Given the description of an element on the screen output the (x, y) to click on. 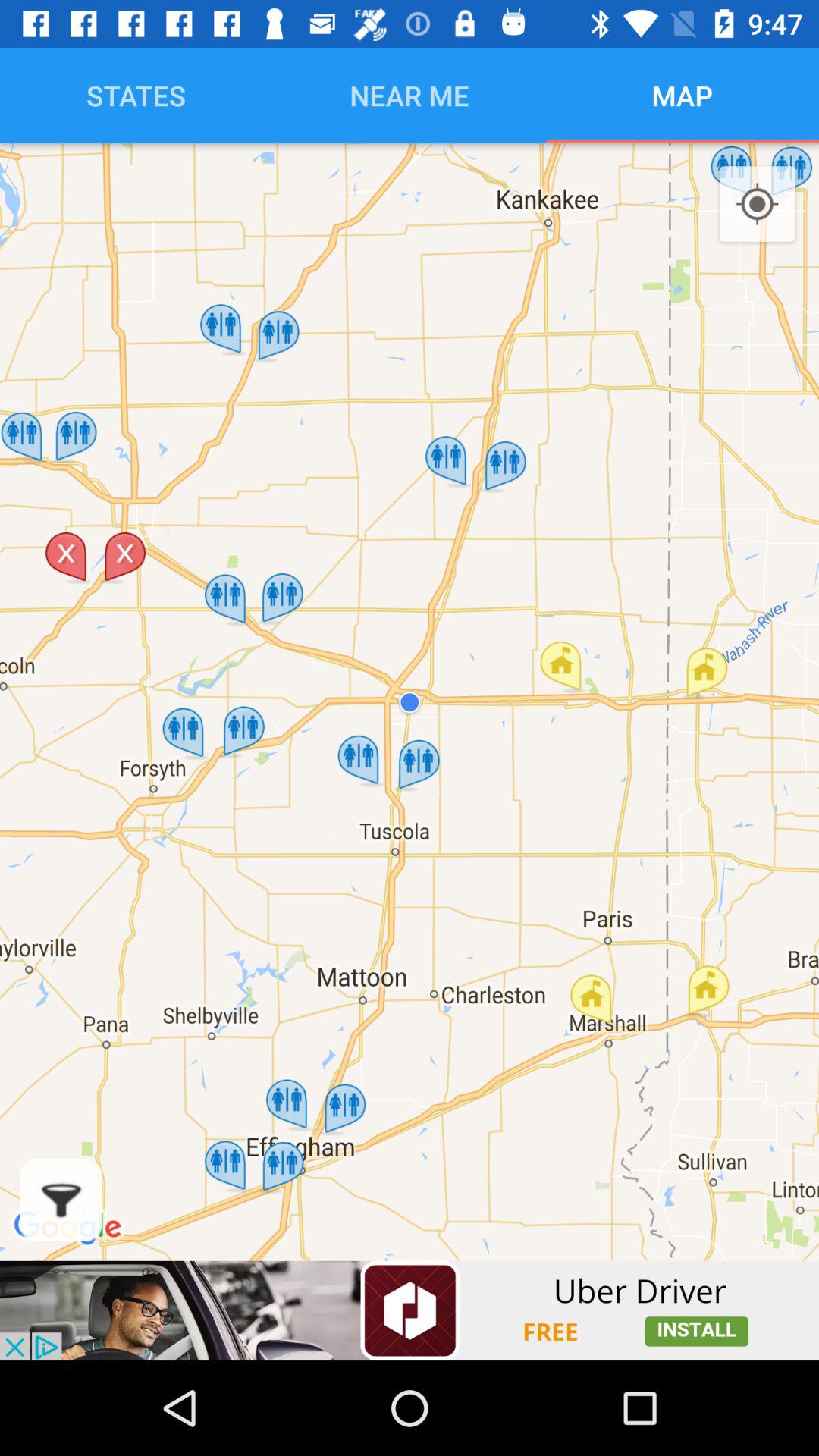
show fileters (60, 1200)
